Given the description of an element on the screen output the (x, y) to click on. 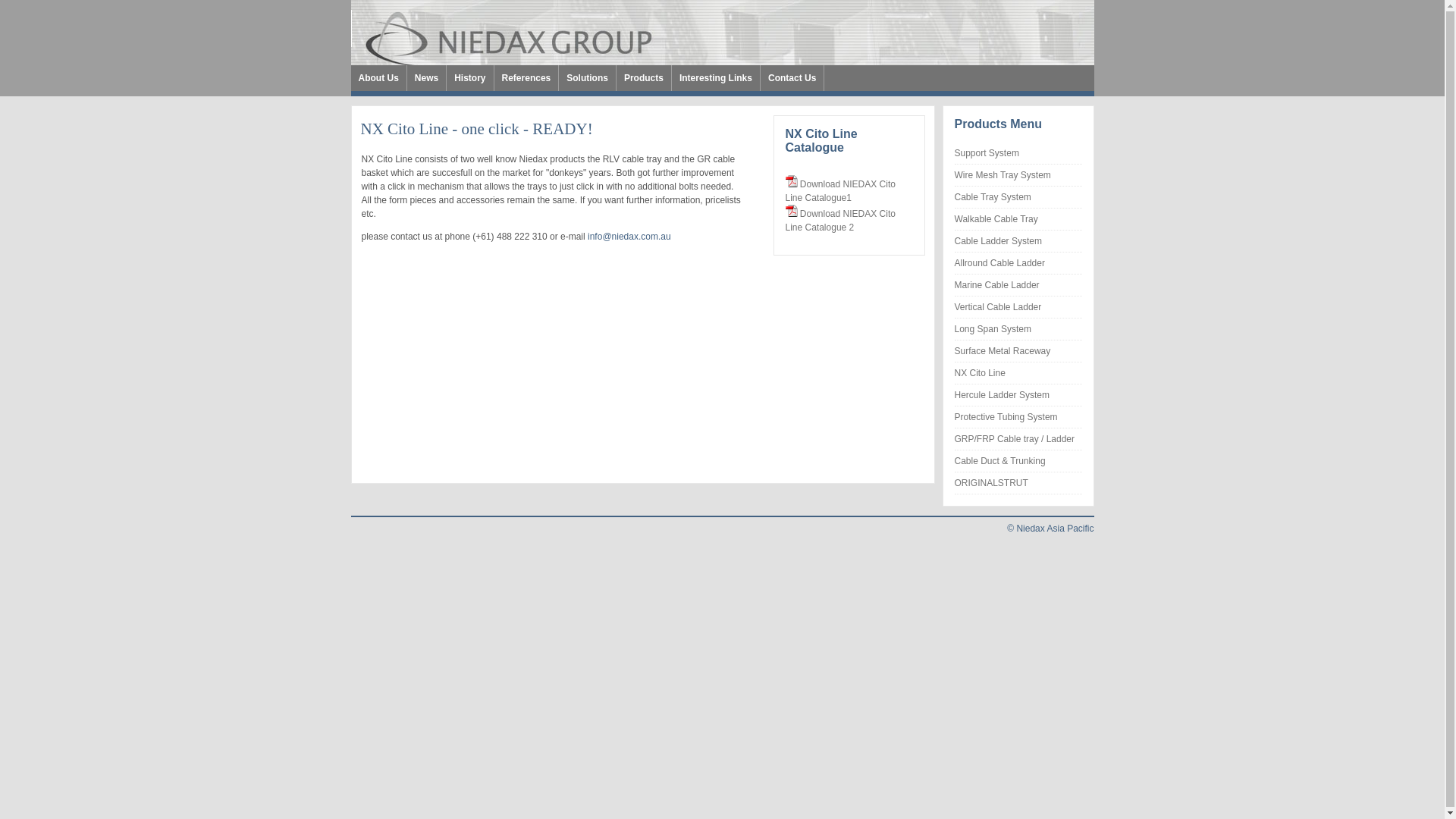
Download NIEDAX Cito Line Catalogue 2 Element type: text (840, 220)
Products Element type: text (643, 77)
Surface Metal Raceway Element type: text (1001, 350)
Support System Element type: text (985, 152)
Marine Cable Ladder Element type: text (995, 284)
Cable Tray System Element type: text (991, 196)
Cable Ladder System Element type: text (997, 240)
GRP/FRP Cable tray / Ladder Element type: text (1013, 438)
Allround Cable Ladder Element type: text (998, 262)
info@niedax.com.au Element type: text (629, 236)
NX Cito Line Element type: text (978, 372)
Cable Duct & Trunking Element type: text (998, 460)
Hercule Ladder System Element type: text (1000, 394)
Wire Mesh Tray System Element type: text (1001, 174)
Vertical Cable Ladder Element type: text (997, 306)
Download NIEDAX Cito Line Catalogue1 Element type: text (840, 190)
References Element type: text (526, 77)
About Us Element type: text (377, 77)
ORIGINALSTRUT Element type: text (990, 482)
Walkable Cable Tray Element type: text (995, 218)
History Element type: text (469, 77)
Protective Tubing System Element type: text (1005, 416)
Interesting Links Element type: text (715, 77)
News Element type: text (426, 77)
Contact Us Element type: text (791, 77)
Long Span System Element type: text (991, 328)
Solutions Element type: text (586, 77)
